Given the description of an element on the screen output the (x, y) to click on. 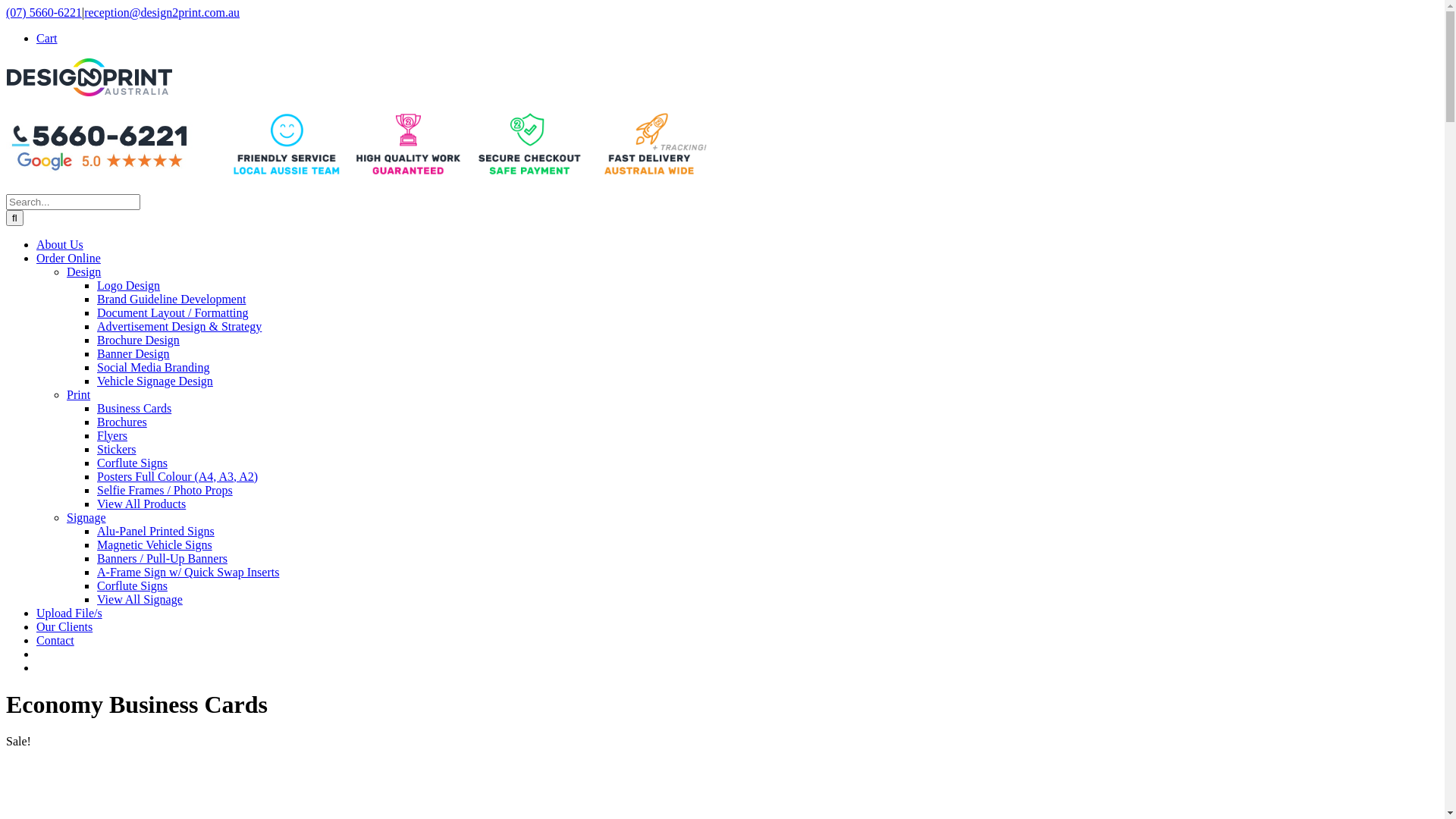
Stickers Element type: text (116, 448)
About Us Element type: text (59, 244)
Banners / Pull-Up Banners Element type: text (162, 558)
View All Products Element type: text (141, 503)
Document Layout / Formatting Element type: text (172, 312)
Brochure Design Element type: text (138, 339)
Vehicle Signage Design Element type: text (155, 380)
Magnetic Vehicle Signs Element type: text (154, 544)
(07) 5660-6221 Element type: text (43, 12)
Contact Element type: text (55, 639)
Print Element type: text (78, 394)
Corflute Signs Element type: text (132, 462)
Our Clients Element type: text (64, 626)
Brochures Element type: text (122, 421)
Corflute Signs Element type: text (132, 585)
Flyers Element type: text (112, 435)
View All Signage Element type: text (139, 599)
Logo Design Element type: text (128, 285)
Order Online Element type: text (68, 257)
A-Frame Sign w/ Quick Swap Inserts Element type: text (188, 571)
Posters Full Colour (A4, A3, A2) Element type: text (177, 476)
Alu-Panel Printed Signs Element type: text (155, 530)
Design Element type: text (83, 271)
Selfie Frames / Photo Props Element type: text (164, 489)
Business Cards Element type: text (134, 407)
Banner Design Element type: text (133, 353)
Signage Element type: text (86, 517)
Advertisement Design & Strategy Element type: text (179, 326)
Brand Guideline Development Element type: text (171, 298)
Upload File/s Element type: text (69, 612)
Social Media Branding Element type: text (153, 366)
Cart Element type: text (46, 37)
reception@design2print.com.au Element type: text (161, 12)
